Given the description of an element on the screen output the (x, y) to click on. 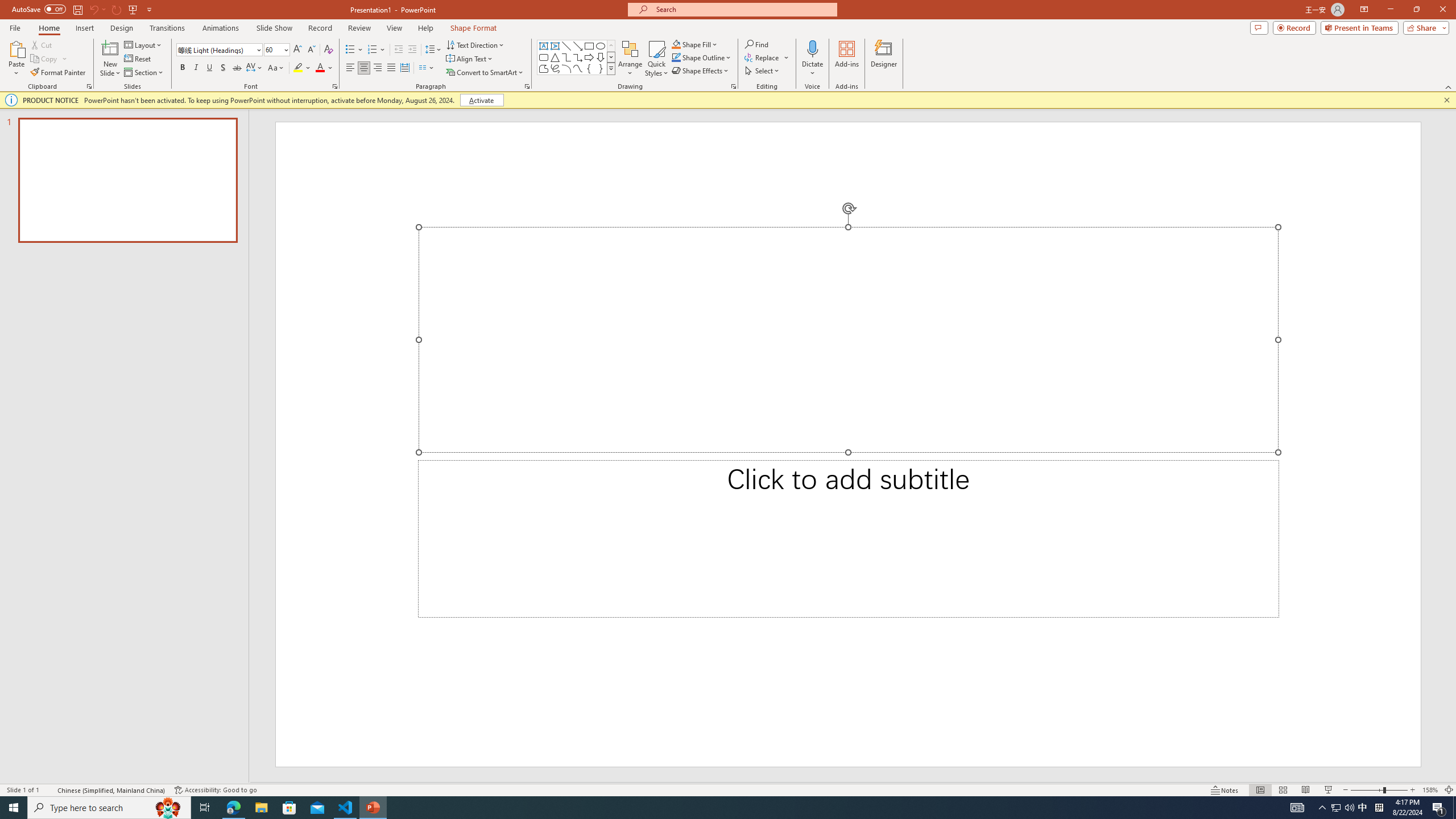
Text Direction (476, 44)
Rectangle (589, 45)
Replace... (762, 56)
Bold (182, 67)
Dictate (812, 58)
Comments (1259, 27)
Zoom (1379, 790)
Row up (611, 45)
Decrease Indent (398, 49)
AutomationID: ShapesInsertGallery (576, 57)
AutoSave (38, 9)
Increase Font Size (297, 49)
Slide Sorter (1282, 790)
Open (285, 49)
